Given the description of an element on the screen output the (x, y) to click on. 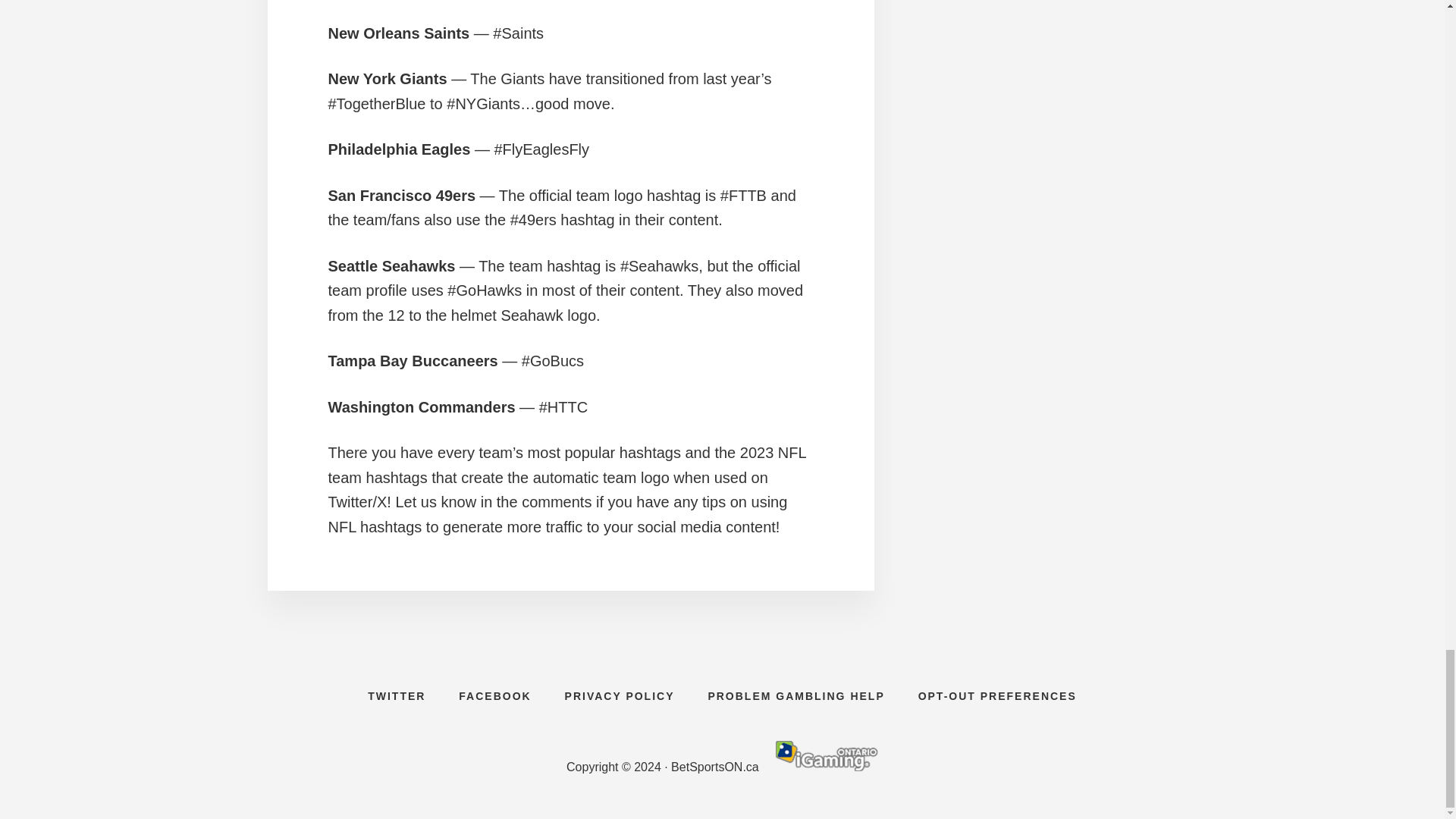
FACEBOOK (495, 695)
TWITTER (396, 695)
OPT-OUT PREFERENCES (997, 695)
PRIVACY POLICY (620, 695)
PROBLEM GAMBLING HELP (796, 695)
